Given the description of an element on the screen output the (x, y) to click on. 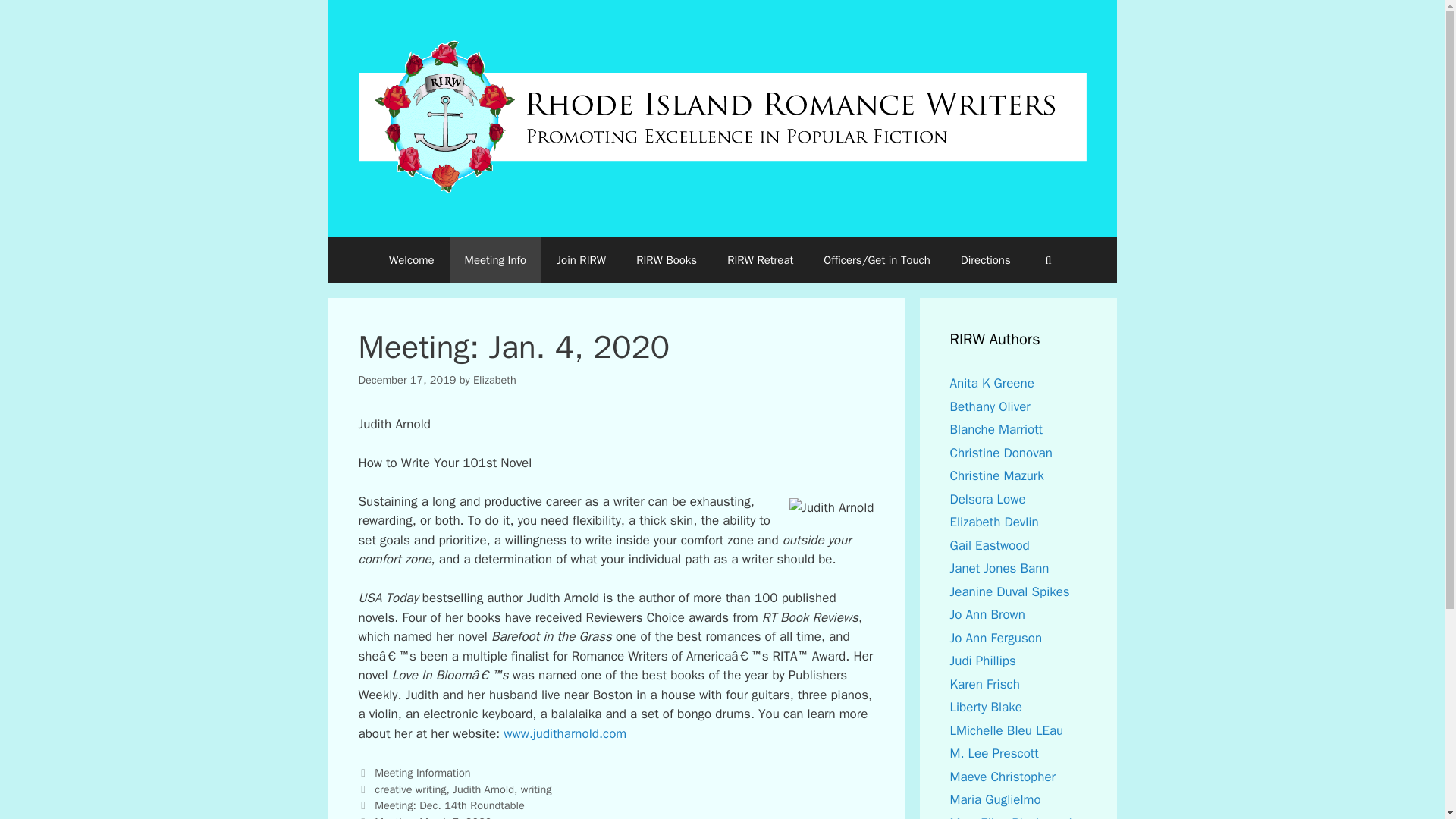
Meeting Info (495, 259)
Karen Dennen (984, 684)
Mary Ellen Blackwood (1010, 816)
Jo Ann Ferguson (995, 637)
View all posts by Elizabeth (494, 379)
Jeanine Duval Spikes (1008, 591)
Maeve Christopher (1002, 776)
Meeting: Dec. 14th Roundtable (449, 805)
Judith Arnold (482, 789)
Delsora Lowe (987, 498)
Bethany Oliver (989, 406)
creative writing (409, 789)
RIRW Retreat (759, 259)
Welcome (411, 259)
Judi Phillips (981, 660)
